Given the description of an element on the screen output the (x, y) to click on. 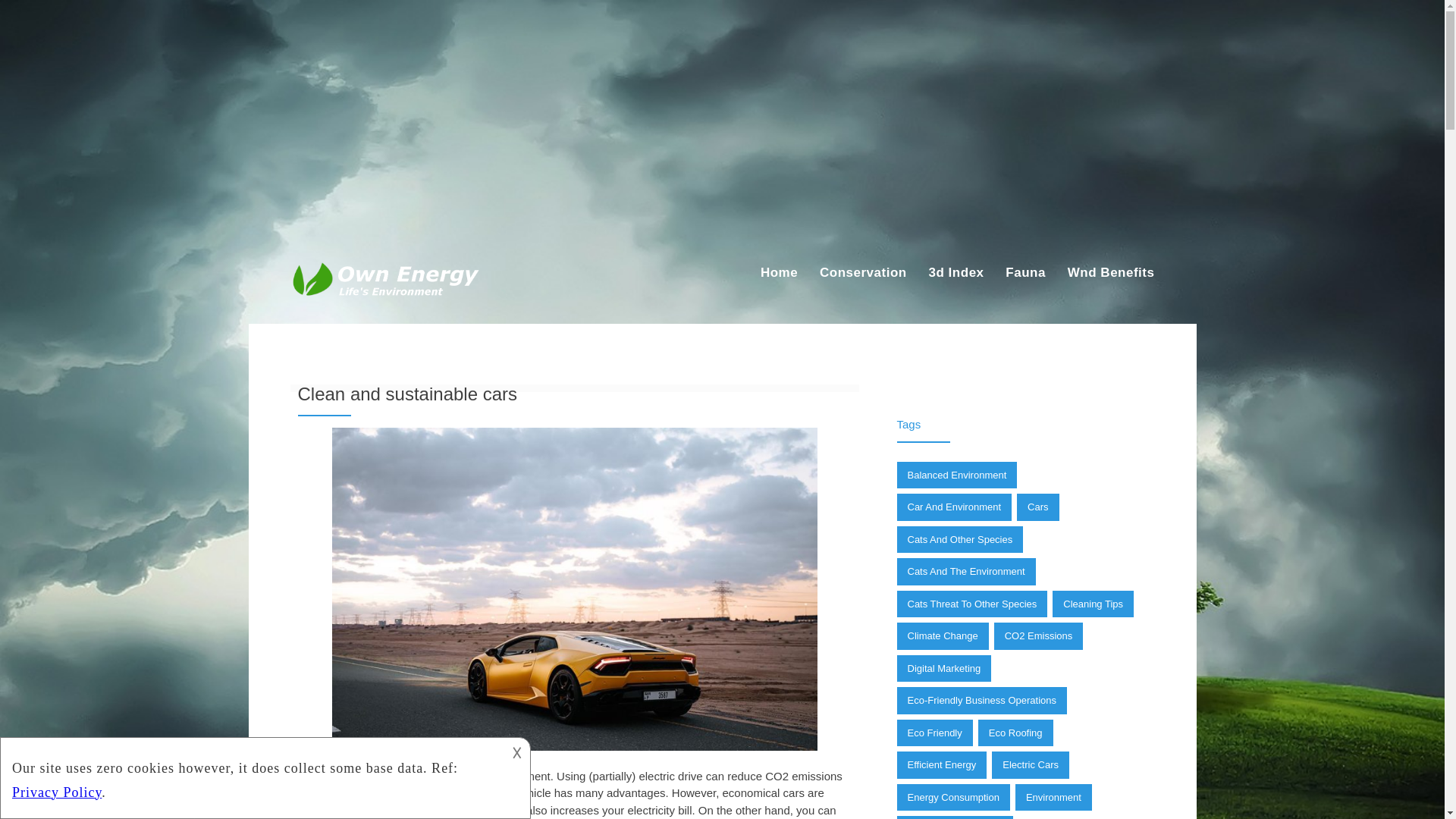
Digital Marketing (943, 668)
Energy Consumption (952, 797)
Eco Roofing (1015, 732)
Environment (1053, 797)
Own Energy (330, 306)
3d Index (956, 272)
Cars (1037, 506)
Cleaning Tips (1093, 604)
Electric Cars (1029, 764)
Cats Threat To Other Species (971, 604)
